Given the description of an element on the screen output the (x, y) to click on. 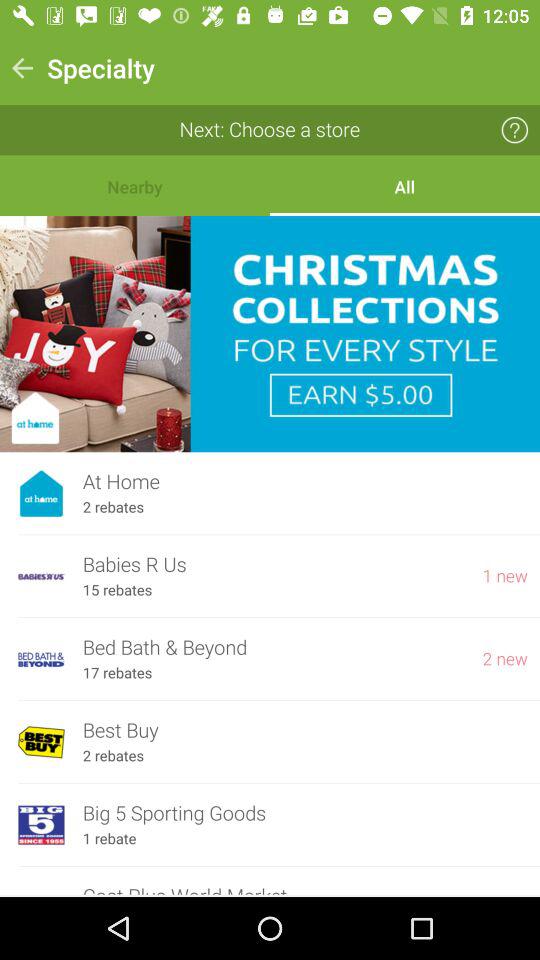
select the icon above the 15 rebates item (273, 564)
